Given the description of an element on the screen output the (x, y) to click on. 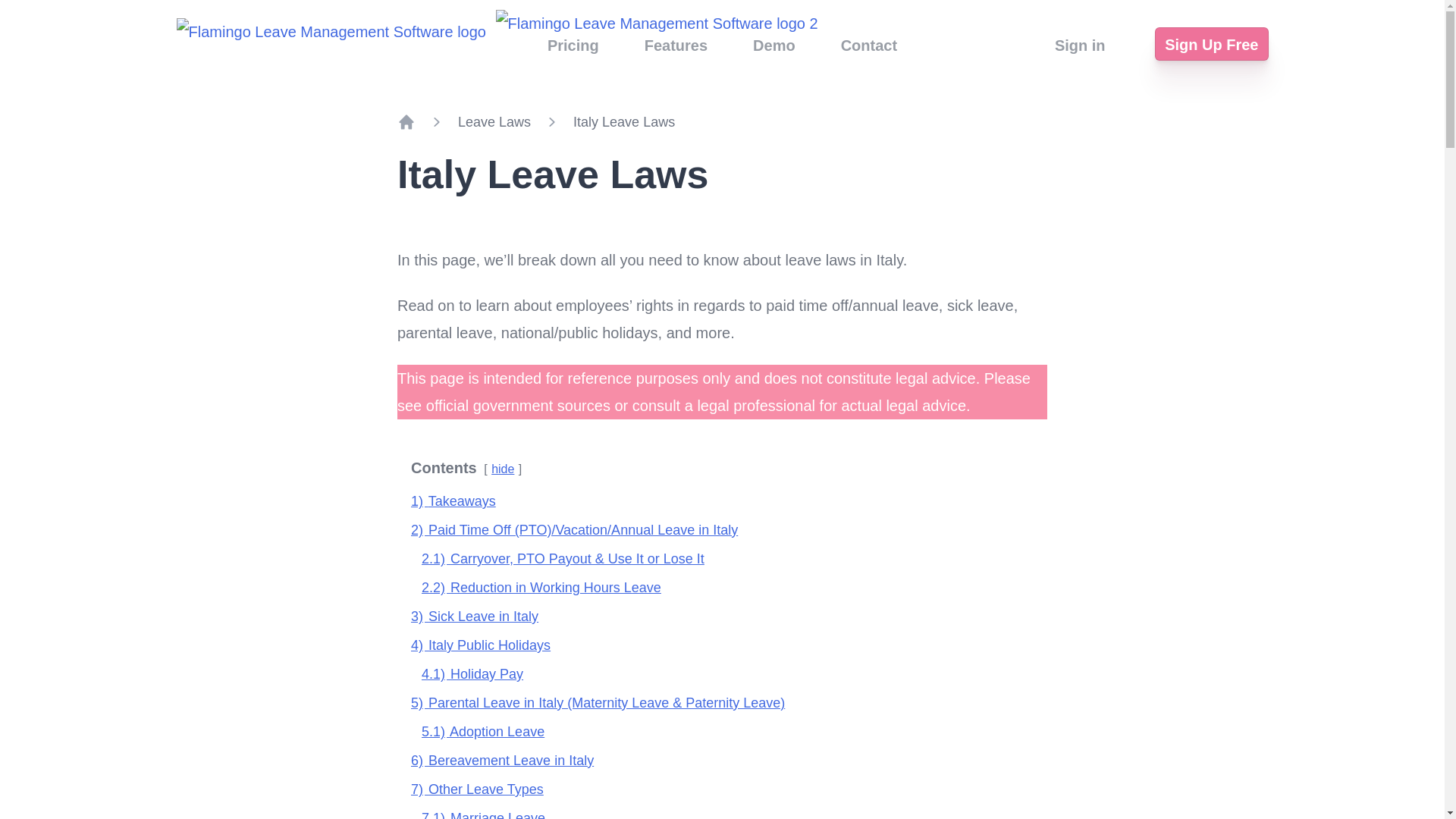
Sign in (1079, 45)
Features (676, 45)
hide (502, 468)
Sign Up Free (1211, 43)
Home (405, 122)
Demo (773, 45)
Italy Leave Laws (624, 121)
Contact (868, 45)
Leave Laws (494, 121)
Pricing (572, 45)
